Given the description of an element on the screen output the (x, y) to click on. 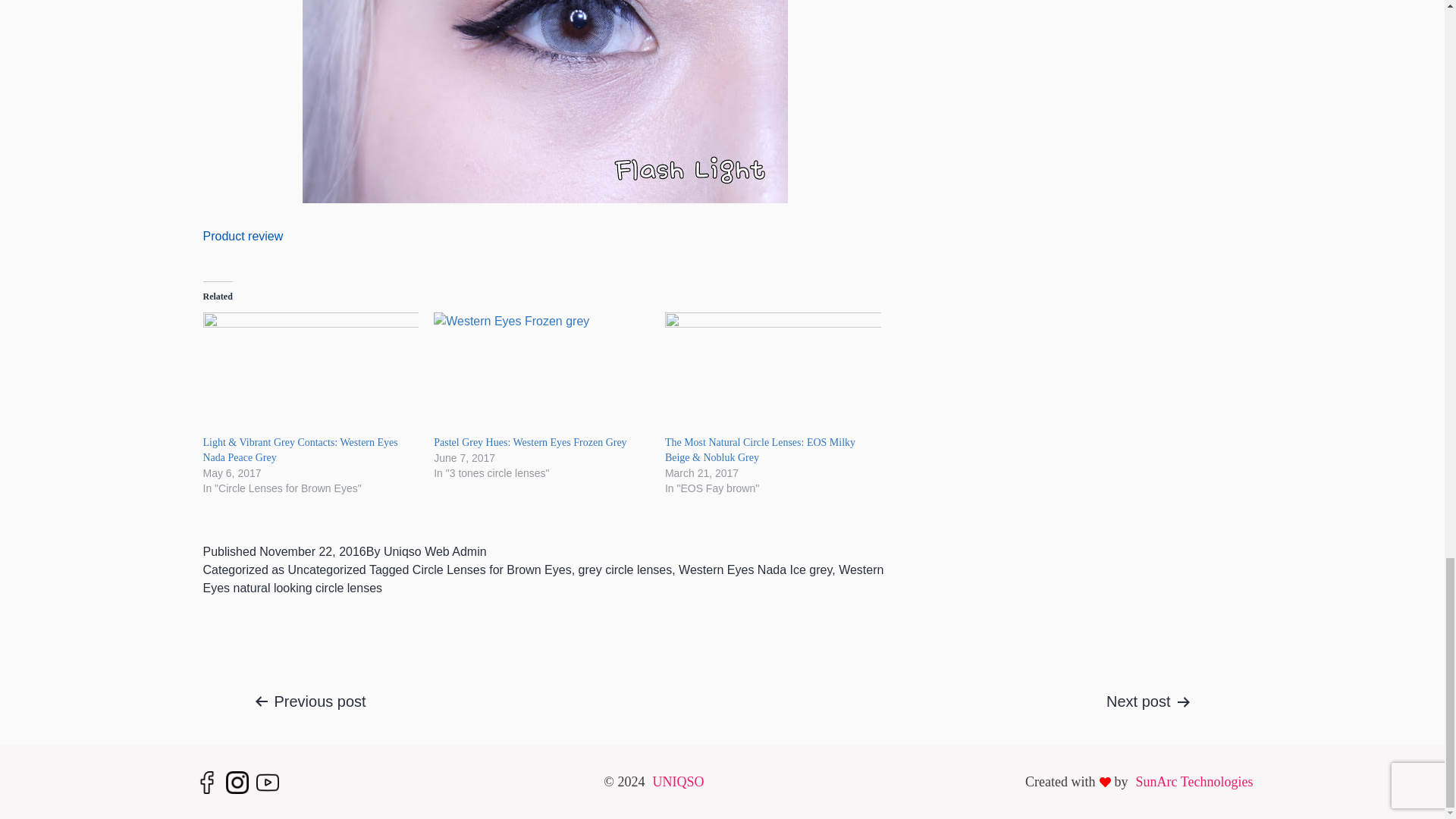
Uncategorized (327, 569)
Pastel Grey Hues: Western Eyes Frozen Grey (529, 441)
Pastel Grey Hues: Western Eyes Frozen Grey (529, 441)
Product review (243, 236)
grey circle lenses (625, 569)
Circle Lenses for Brown Eyes (492, 569)
Uniqso Web Admin (435, 551)
Pastel Grey Hues: Western Eyes Frozen Grey (541, 373)
